Given the description of an element on the screen output the (x, y) to click on. 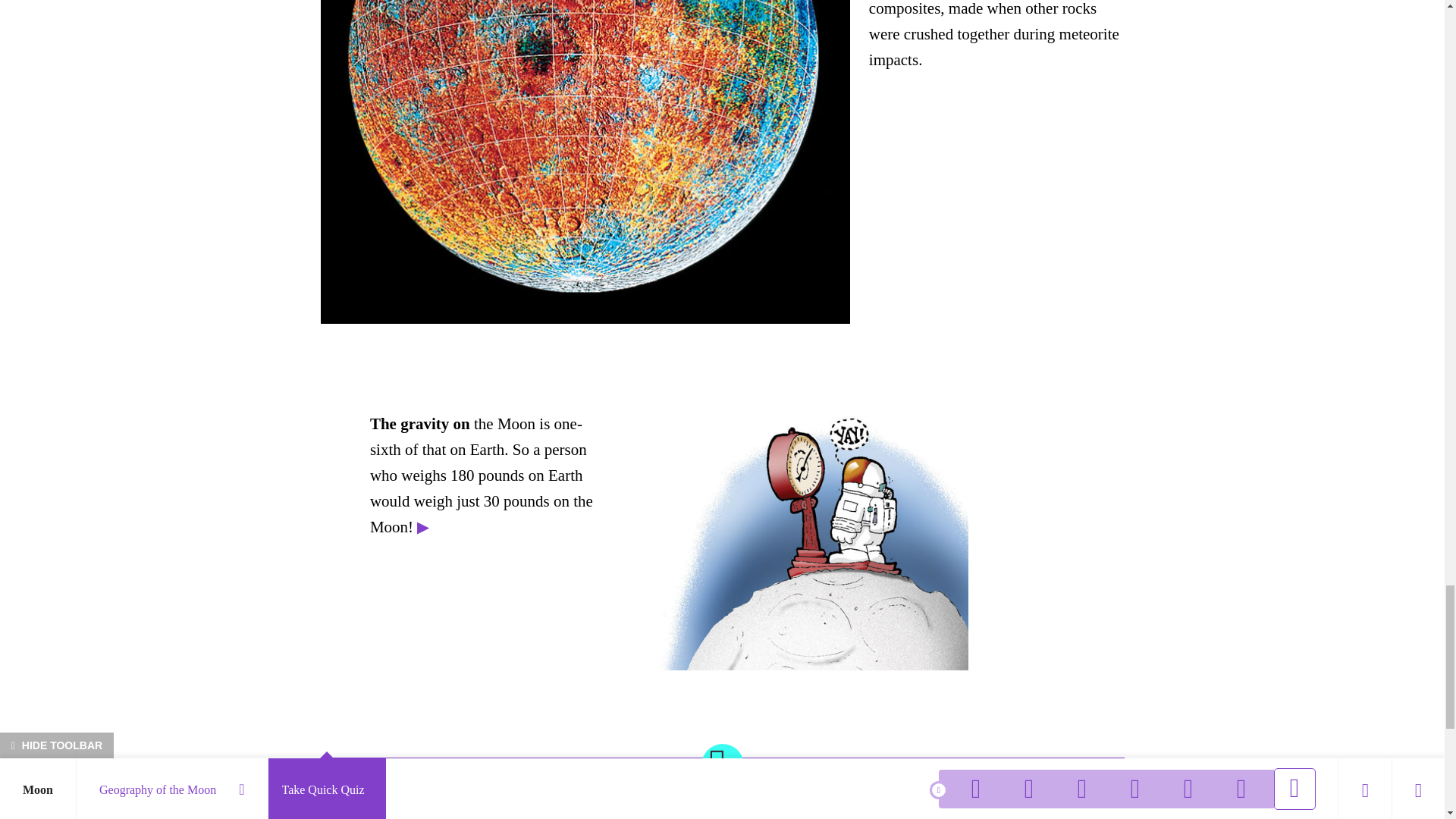
Explore the Surface of the Moon (722, 788)
